Given the description of an element on the screen output the (x, y) to click on. 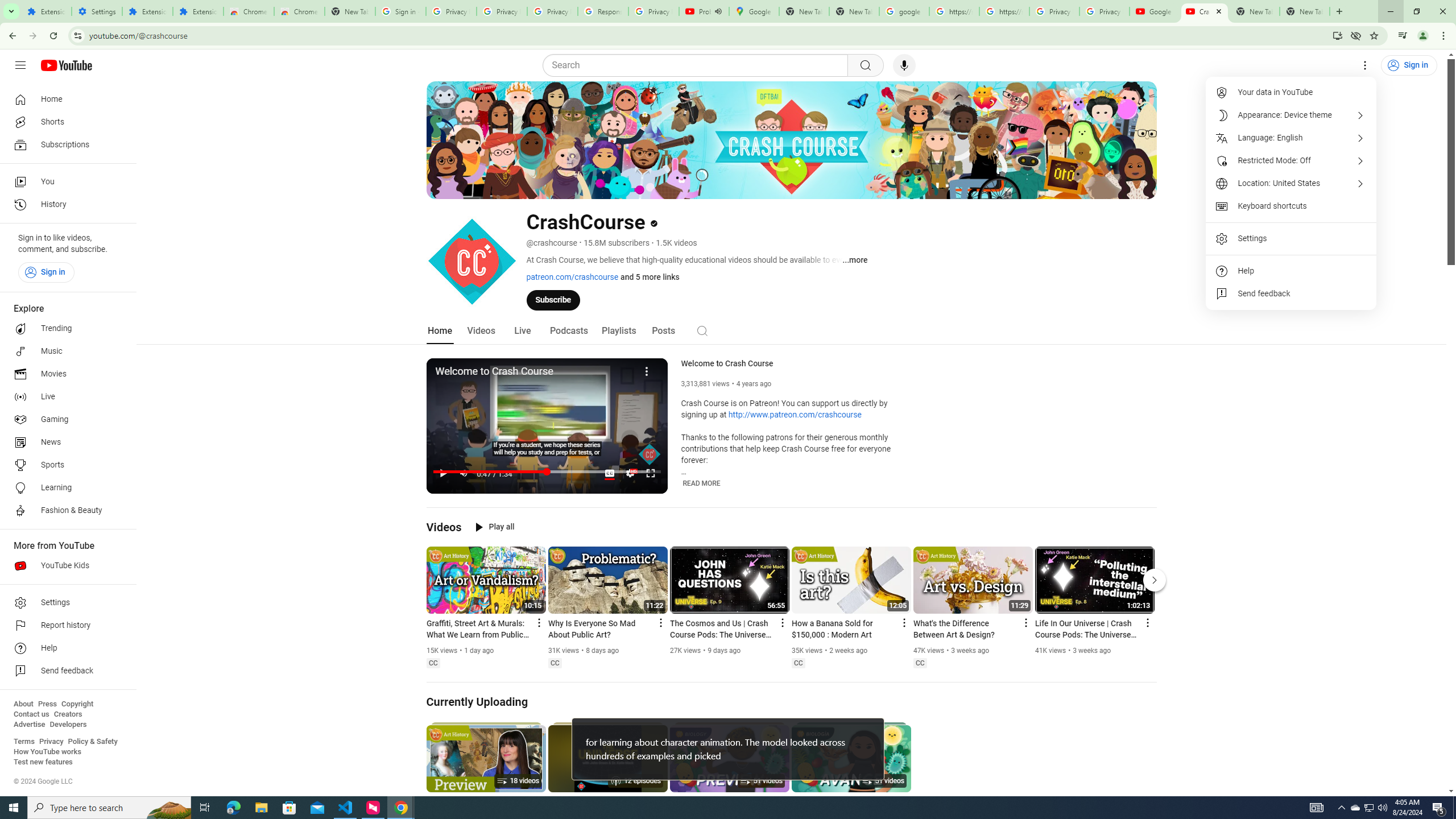
Extensions (146, 11)
Live (64, 396)
Report history (64, 625)
READ MORE (701, 483)
Developers (68, 724)
Videos (443, 526)
Gaming (64, 419)
Closed captions (919, 662)
Home (64, 99)
Advertise (29, 724)
CrashCourse - YouTube (1204, 11)
